Given the description of an element on the screen output the (x, y) to click on. 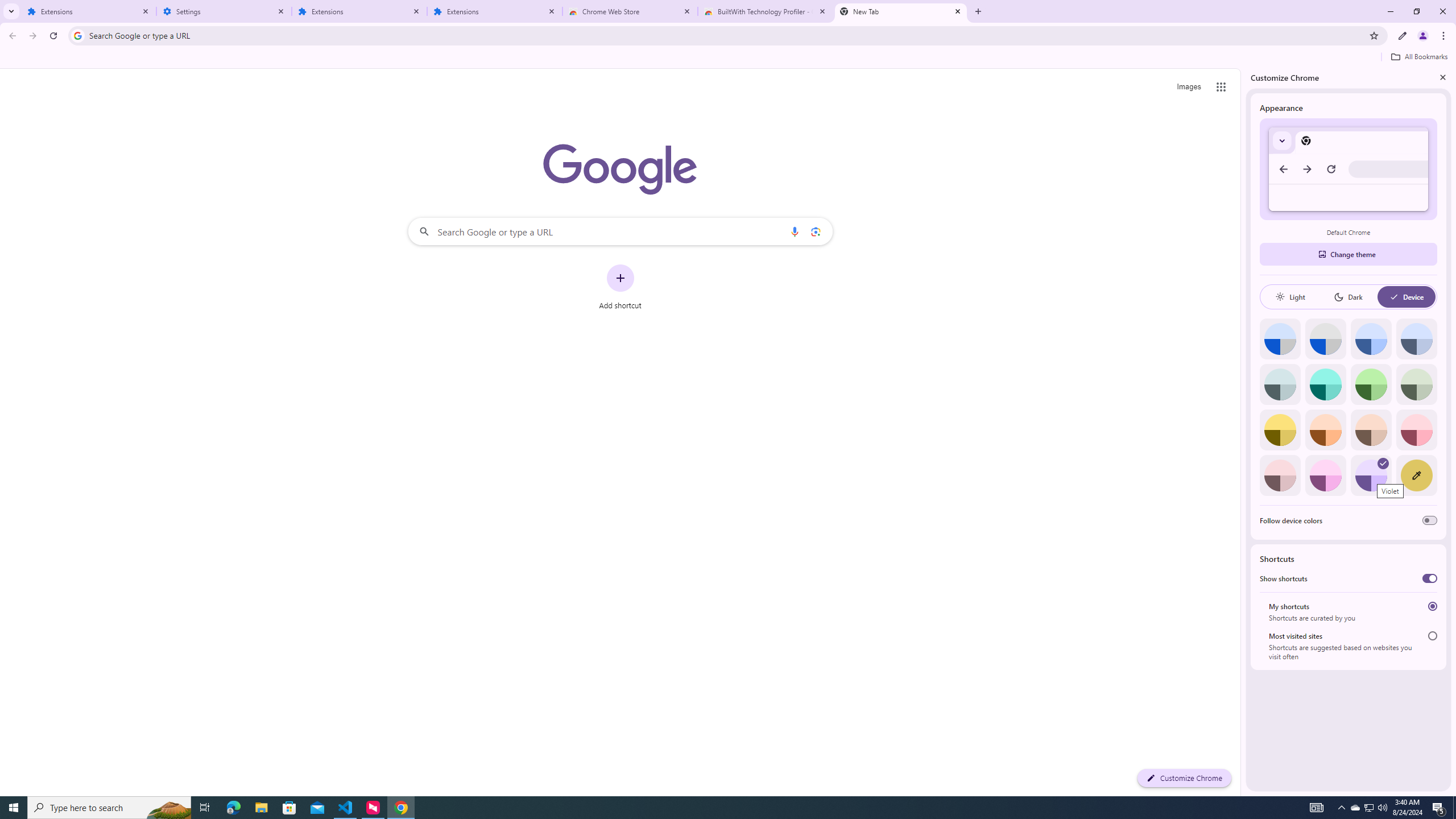
Chrome Web Store (630, 11)
Side Panel Resize Handle (1242, 431)
Device (1406, 296)
Show shortcuts (1429, 578)
Extensions (494, 11)
Add shortcut (620, 287)
Pink (1279, 475)
Default color (1279, 338)
